Given the description of an element on the screen output the (x, y) to click on. 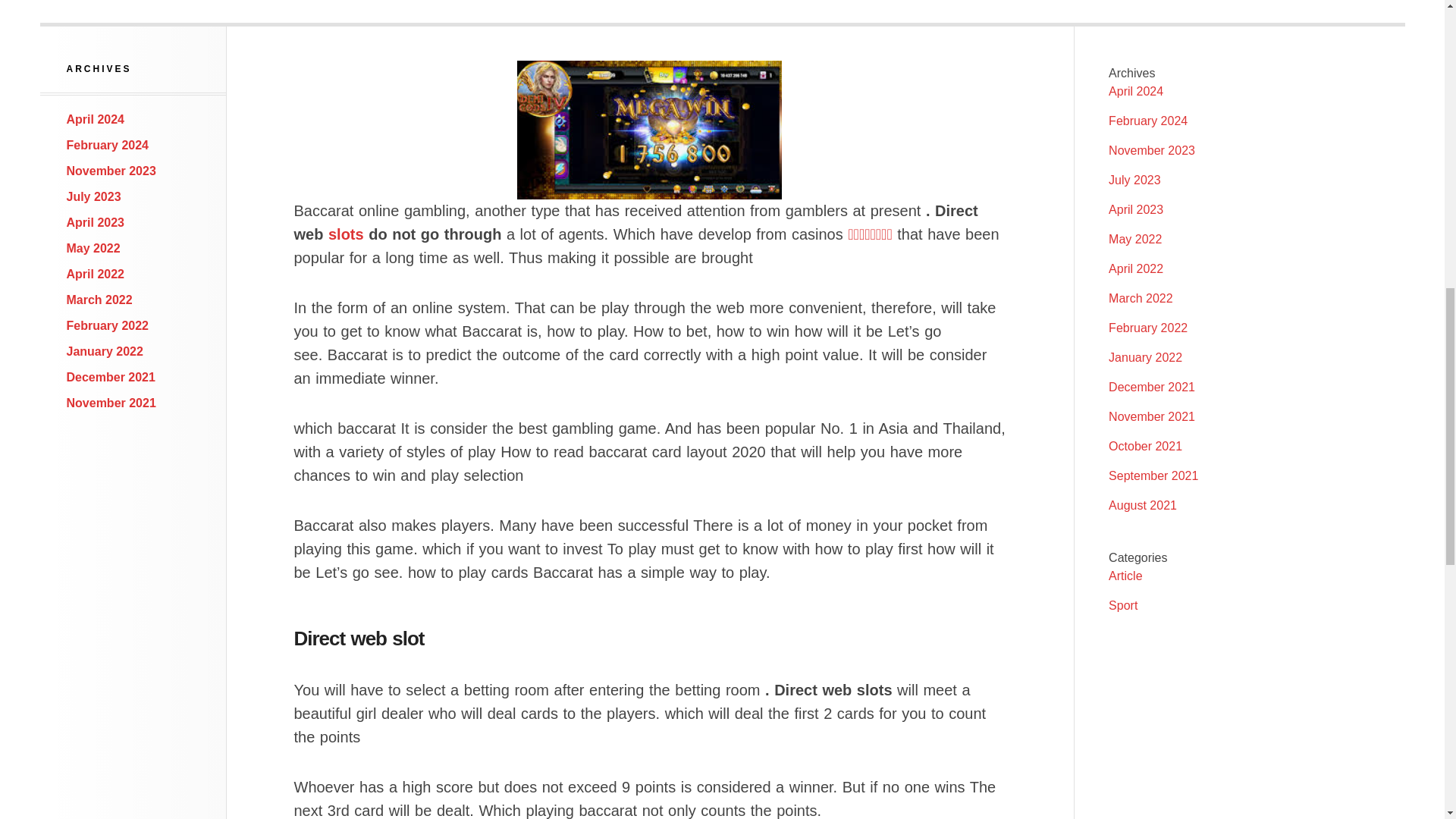
February 2022 (1148, 327)
November 2023 (1151, 150)
February 2024 (1148, 120)
slots (346, 234)
November 2023 (110, 170)
February 2024 (107, 144)
November 2021 (110, 402)
July 2023 (1134, 179)
April 2024 (94, 119)
July 2023 (93, 196)
January 2022 (1145, 357)
April 2022 (1135, 268)
April 2024 (1135, 91)
April 2022 (94, 273)
February 2022 (107, 325)
